Given the description of an element on the screen output the (x, y) to click on. 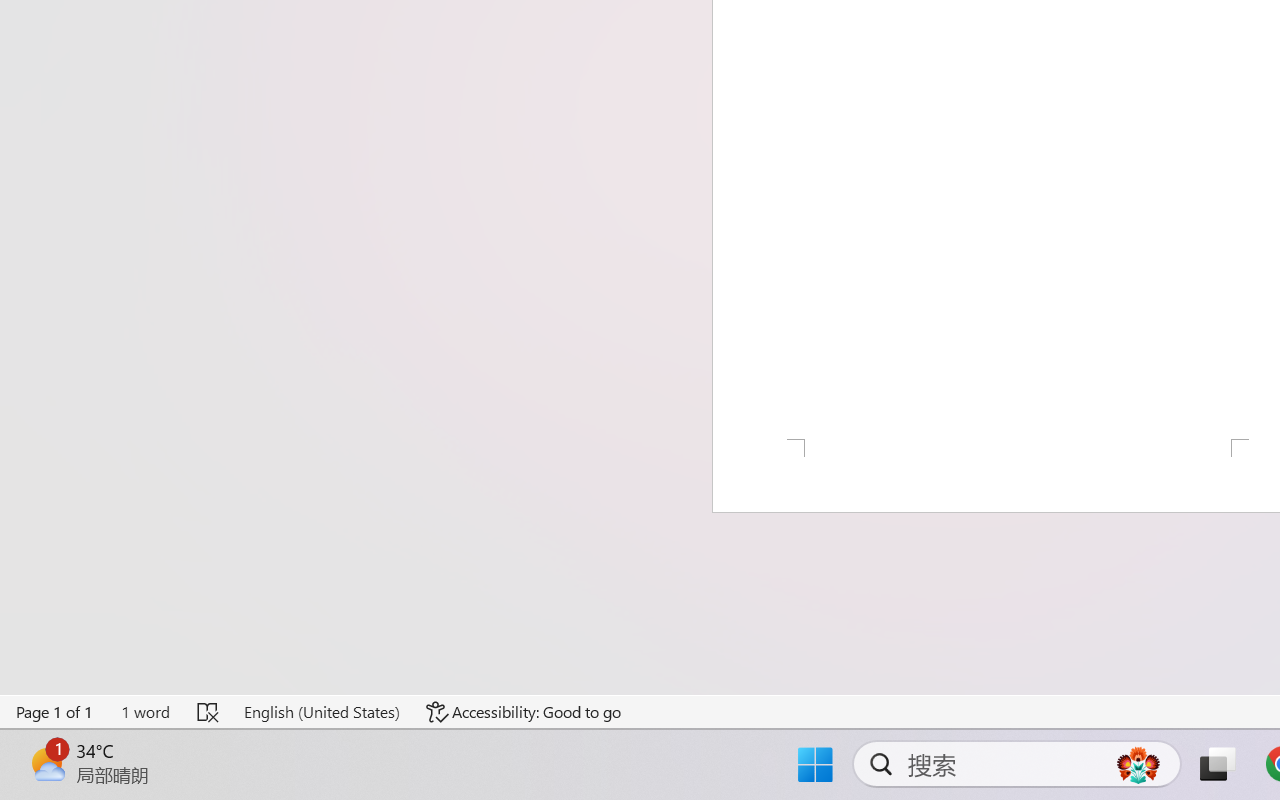
Spelling and Grammar Check Errors (208, 712)
